Given the description of an element on the screen output the (x, y) to click on. 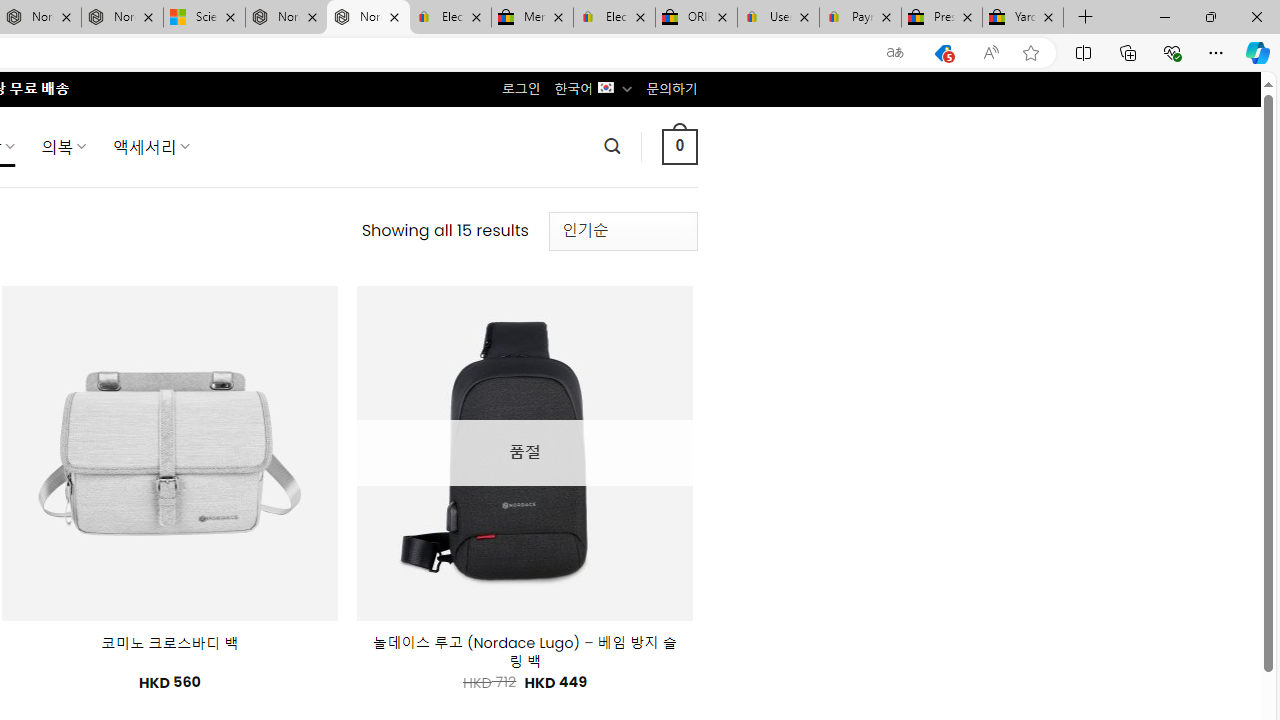
 0  (679, 146)
User Privacy Notice | eBay (778, 17)
Yard, Garden & Outdoor Living (1023, 17)
Payments Terms of Use | eBay.com (860, 17)
Show translate options (895, 53)
This site has coupons! Shopping in Microsoft Edge, 5 (943, 53)
